Given the description of an element on the screen output the (x, y) to click on. 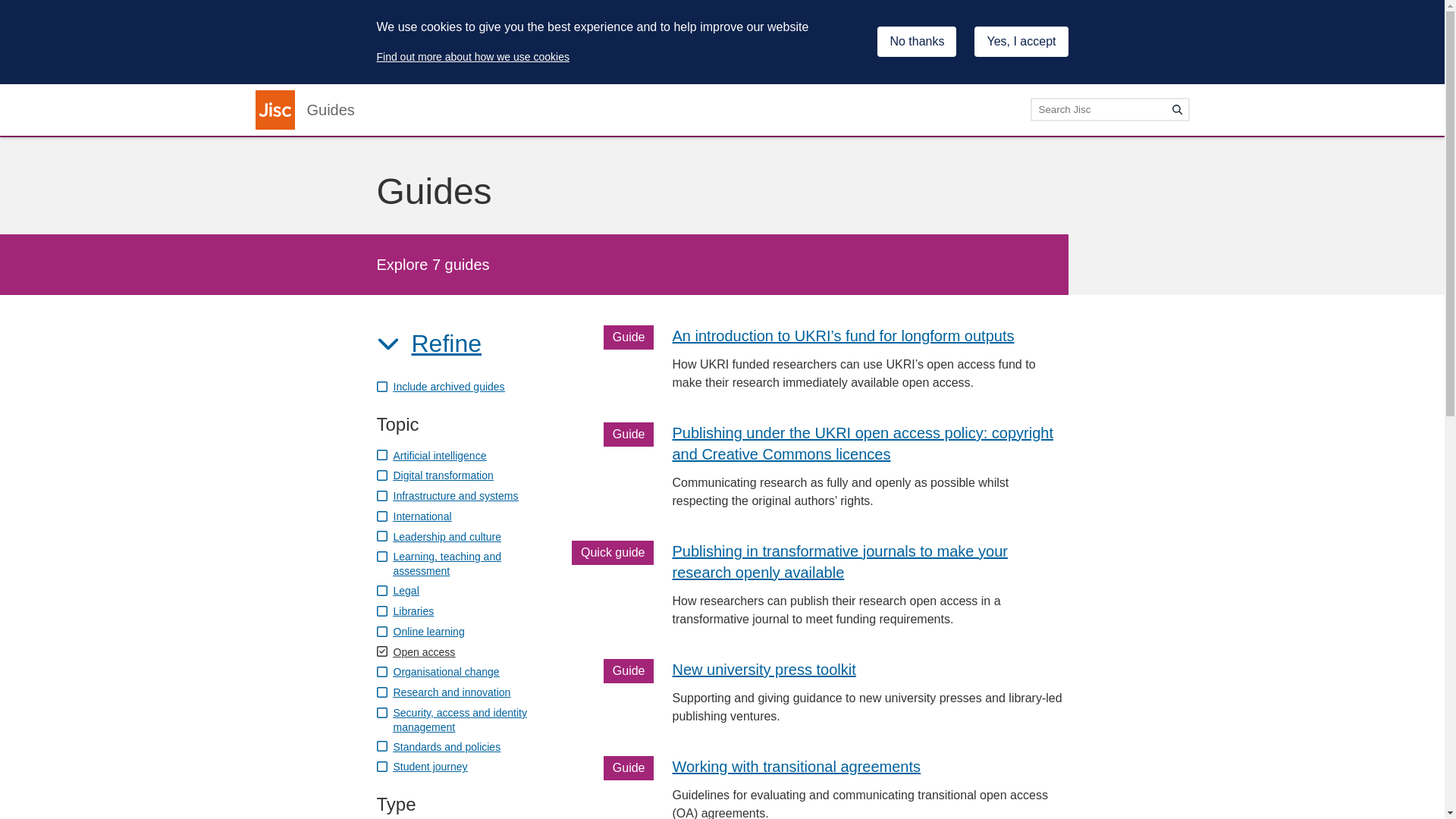
Find out more about how we use cookies (472, 56)
Open access (414, 650)
Leadership and culture (437, 535)
No thanks (916, 41)
Security, access and identity management (450, 719)
Legal (397, 590)
Digital transformation (434, 474)
Yes, I accept (1020, 41)
Libraries (404, 610)
Research and innovation (443, 691)
Organisational change (437, 671)
Online learning (419, 631)
Student journey (421, 766)
Working with transitional agreements (795, 766)
